Given the description of an element on the screen output the (x, y) to click on. 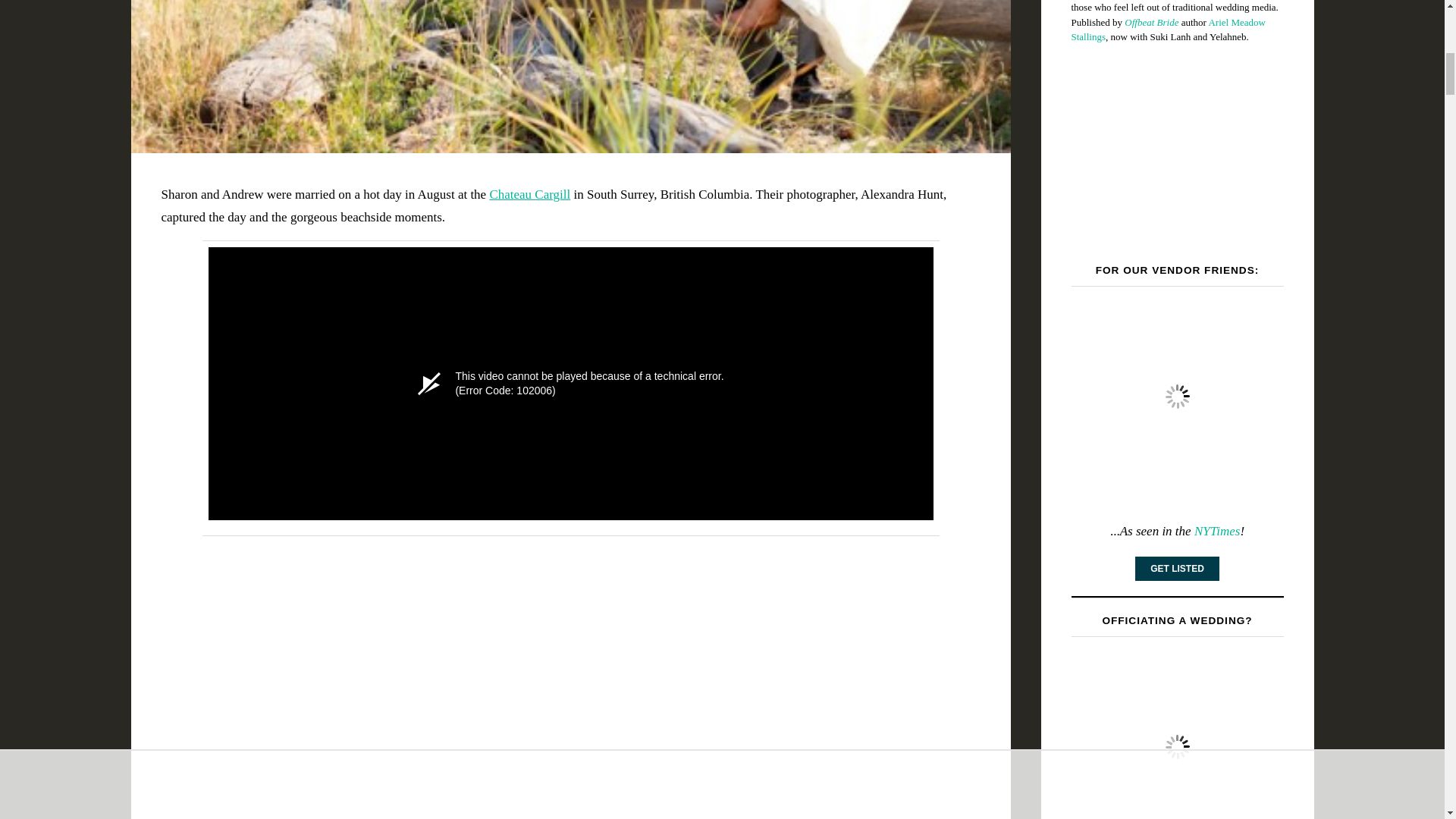
Chateau Cargill (529, 194)
